Given the description of an element on the screen output the (x, y) to click on. 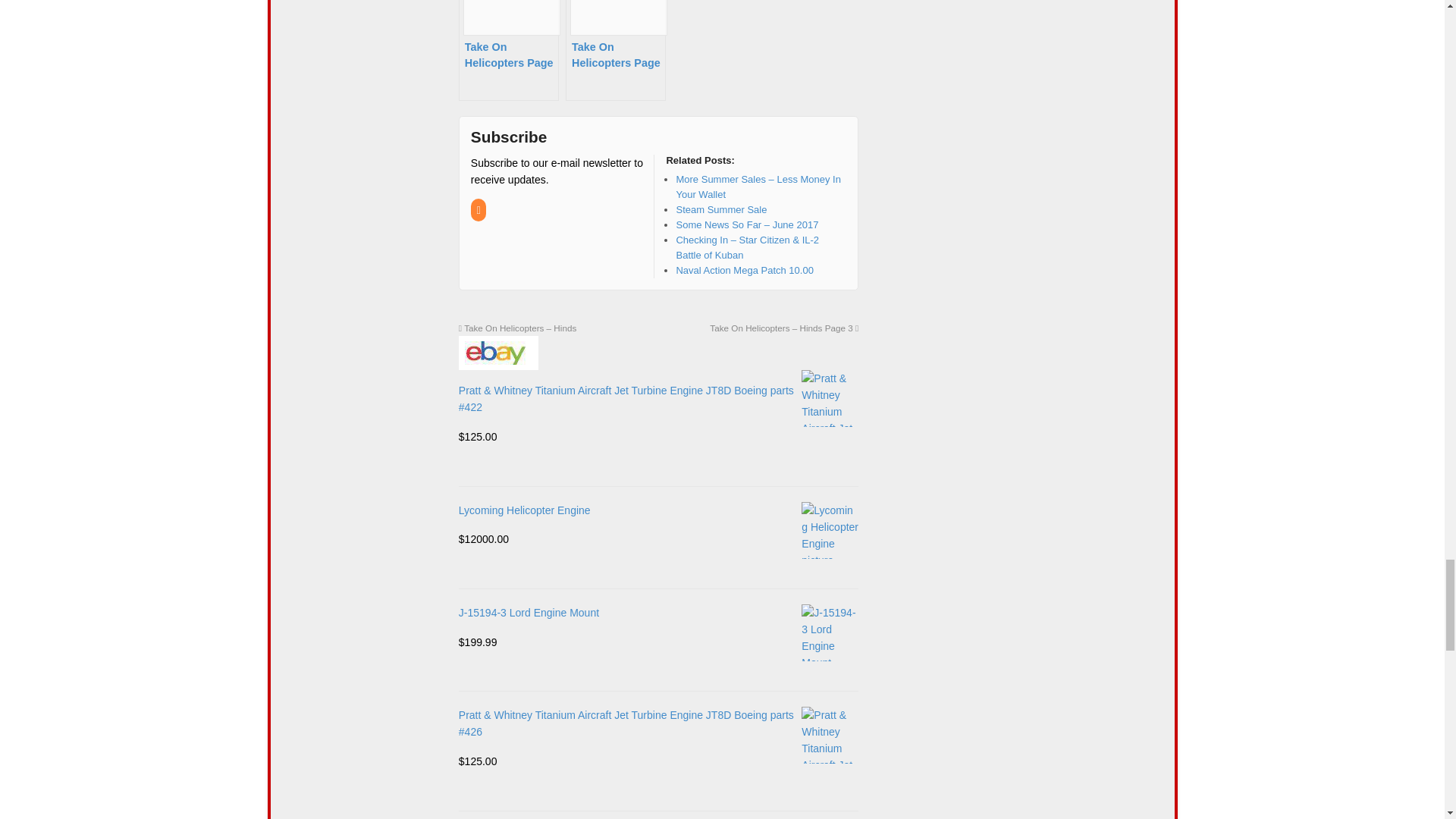
RSS (478, 210)
Take On Helicopters Page 4 (508, 50)
Steam Summer Sale (721, 208)
Take On Helicopters Page 5 (615, 50)
